Given the description of an element on the screen output the (x, y) to click on. 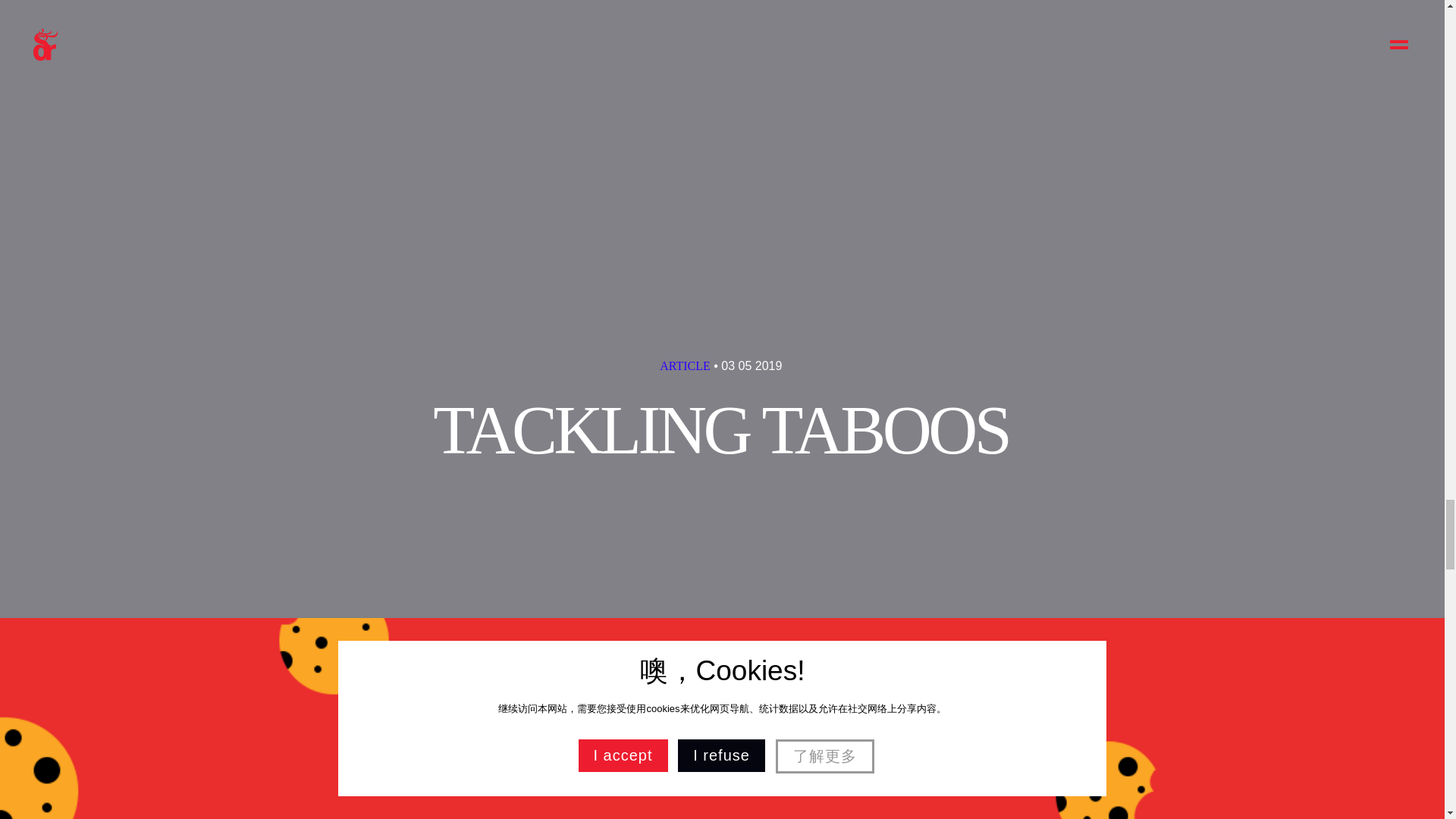
Durex (537, 45)
biggest killer of men (494, 755)
like a toilet (710, 801)
One in three women (756, 755)
Hanx (686, 136)
